Given the description of an element on the screen output the (x, y) to click on. 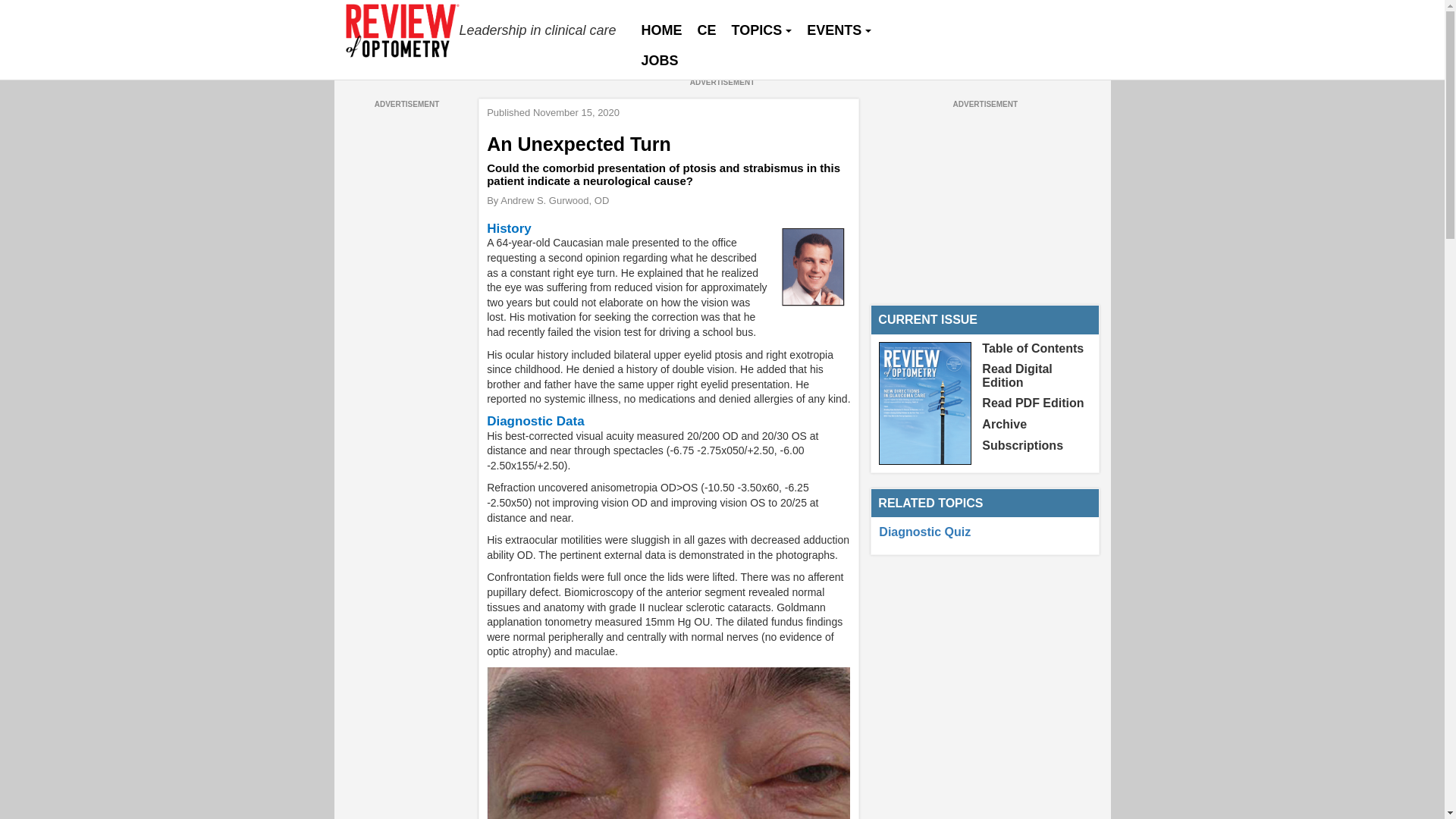
TOPICS (761, 30)
CE (706, 30)
HOME (661, 30)
EVENTS (839, 30)
Leadership in clinical care (482, 30)
JOBS (659, 60)
